Given the description of an element on the screen output the (x, y) to click on. 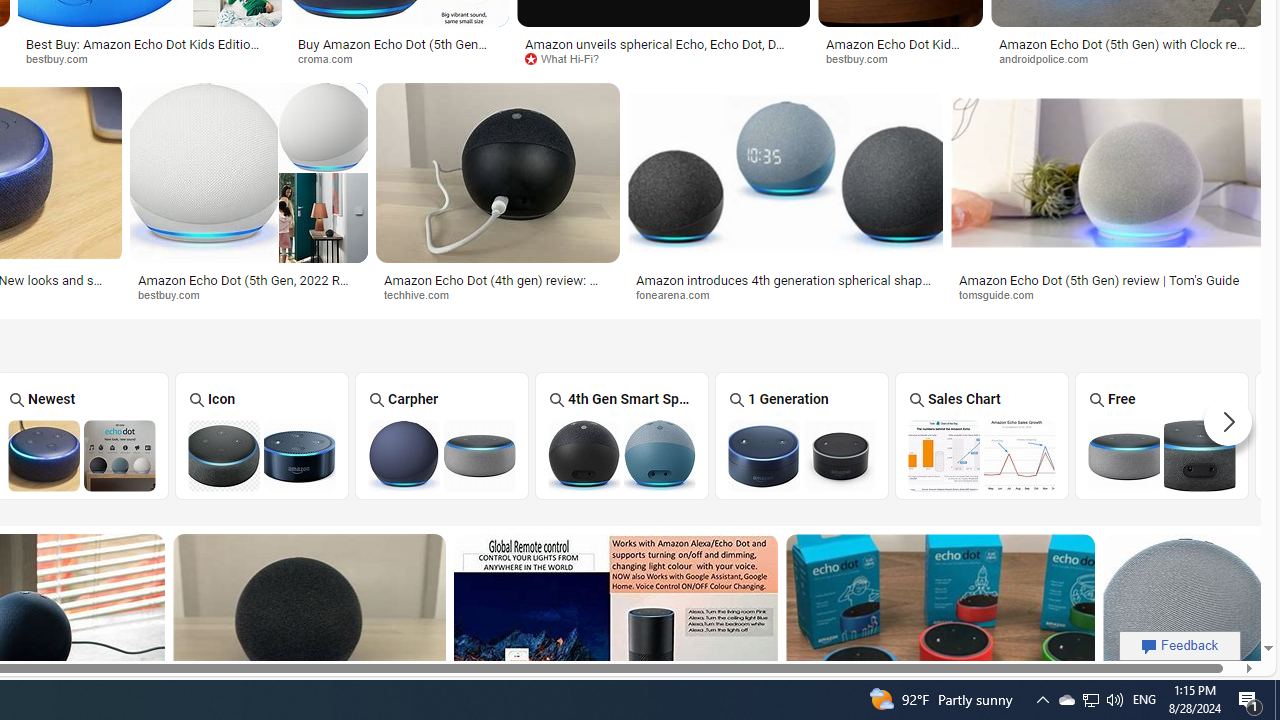
Newest Amazon Echo Dot (81, 455)
What Hi-Fi? (663, 58)
Free Amazon Echo Dot (1162, 455)
Amazon Echo Dot Carpher Carpher (441, 435)
Amazon Echo Dot Icon Icon (262, 435)
